Given the description of an element on the screen output the (x, y) to click on. 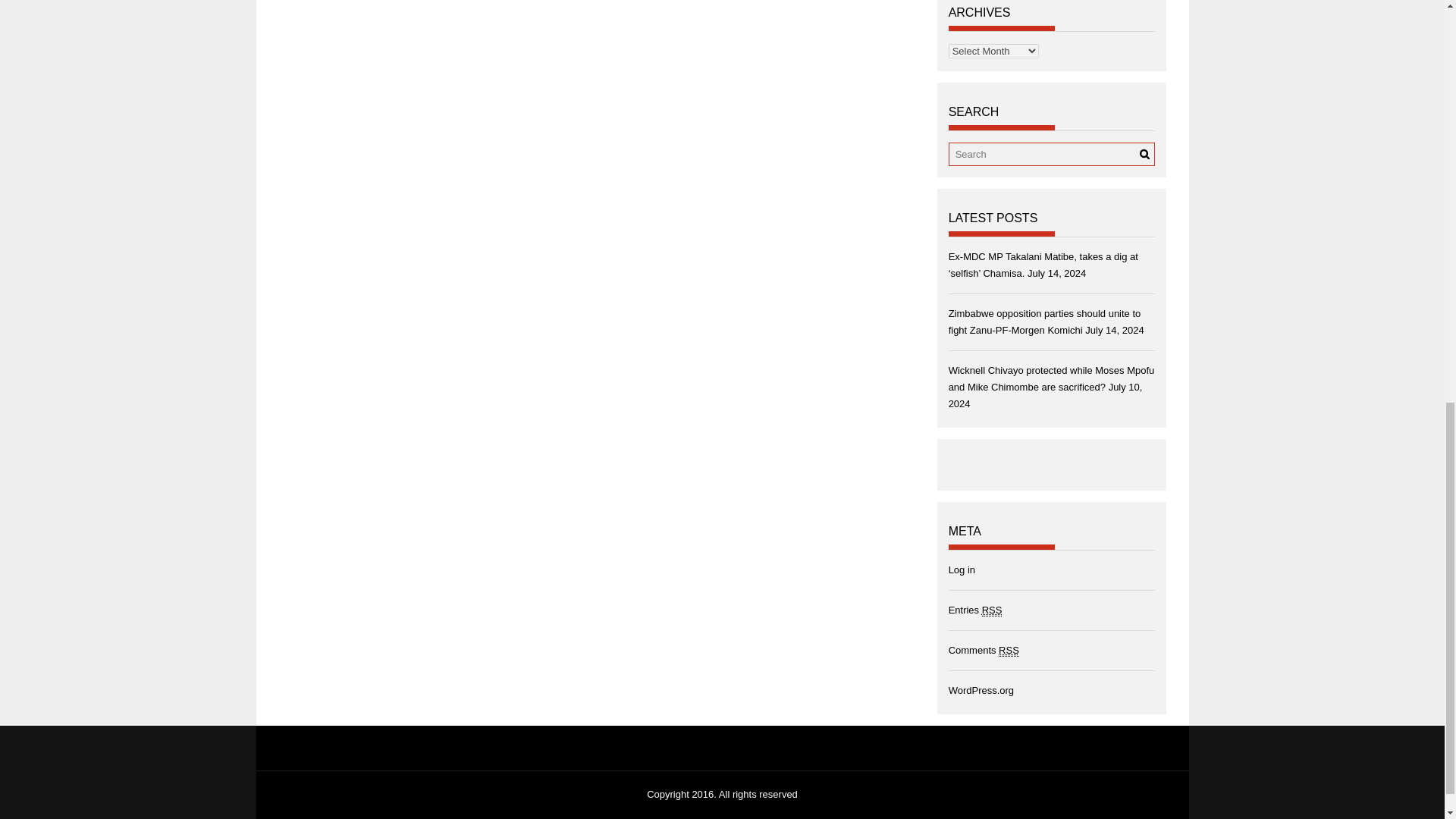
Really Simple Syndication (992, 610)
Search (1143, 153)
Really Simple Syndication (1008, 650)
